Given the description of an element on the screen output the (x, y) to click on. 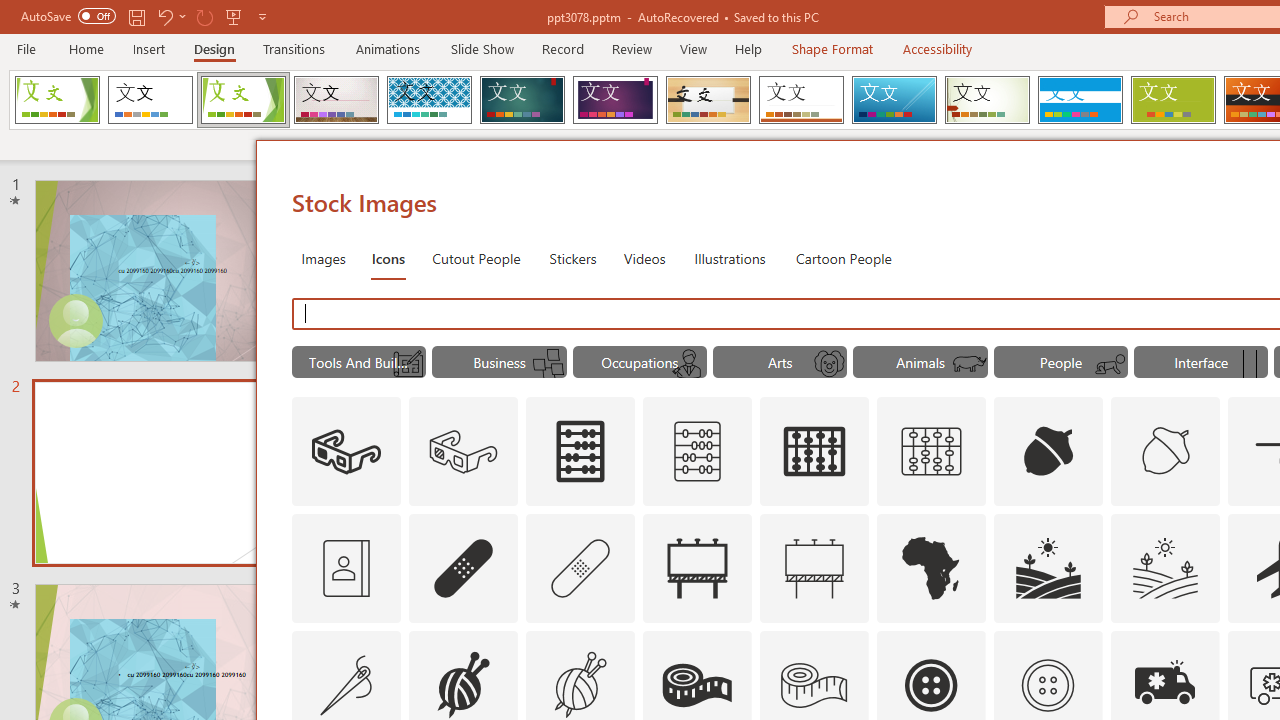
AutomationID: Icons_JudgeMale_M (688, 364)
Icons (388, 258)
"Arts" Icons. (779, 362)
AutomationID: Icons_Pause_M (1249, 364)
"Animals" Icons. (920, 362)
Retrospect (801, 100)
Cartoon People (843, 258)
AutomationID: Icons_Acorn (1048, 452)
AutomationID: Icons_PostitNotes1_M (549, 364)
